Given the description of an element on the screen output the (x, y) to click on. 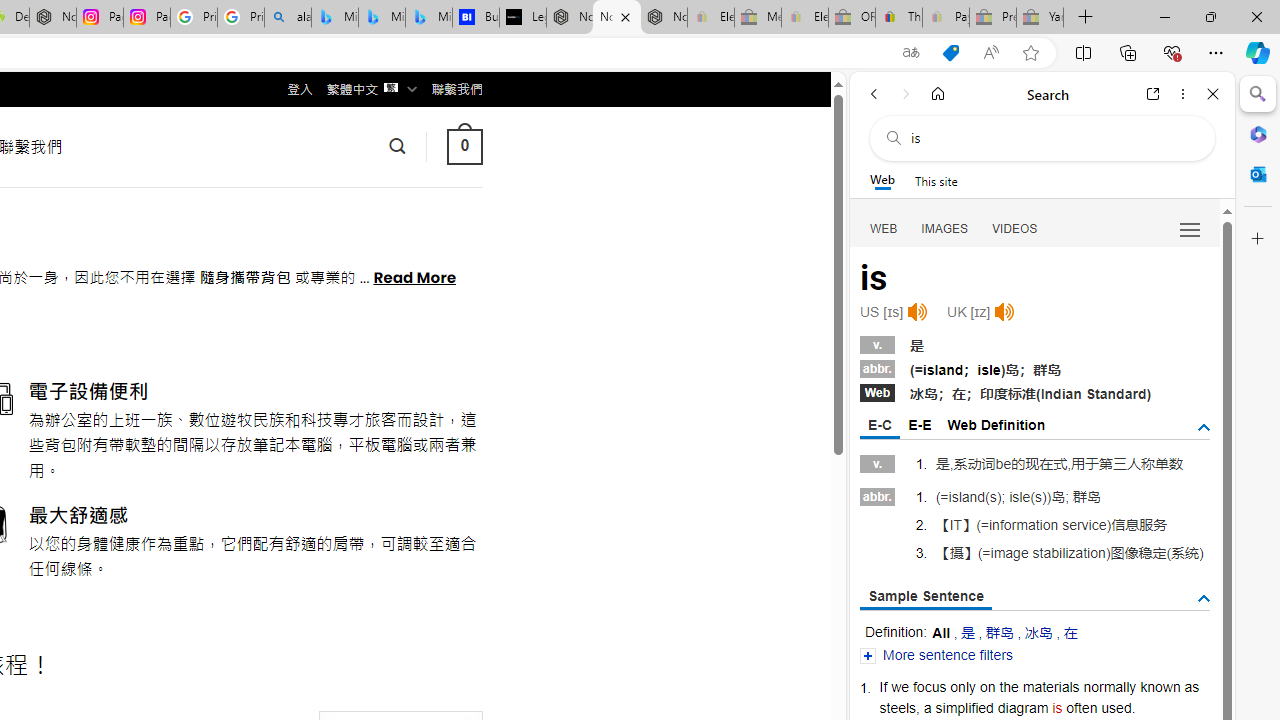
AutomationID: tgdef (1203, 428)
Microsoft Bing Travel - Shangri-La Hotel Bangkok (428, 17)
focus (929, 686)
E-E (919, 424)
  0   (464, 146)
Payments Terms of Use | eBay.com - Sleeping (945, 17)
on (987, 686)
Read More (414, 276)
